Given the description of an element on the screen output the (x, y) to click on. 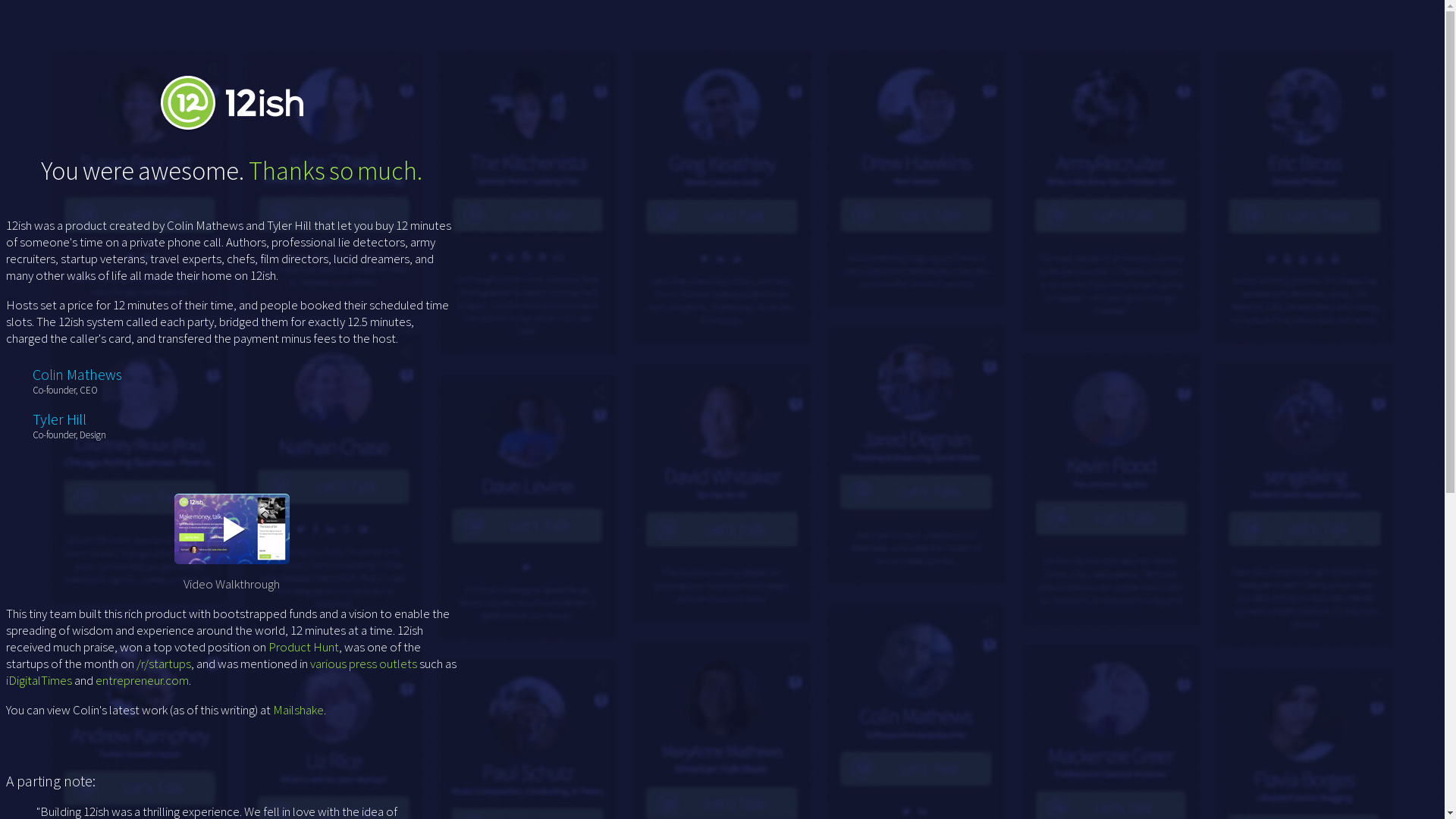
Colin Mathews Element type: text (77, 373)
outlets Element type: text (398, 663)
Mailshake Element type: text (298, 709)
iDigitalTimes Element type: text (39, 679)
entrepreneur.com Element type: text (141, 679)
Product Hunt Element type: text (303, 646)
/r/startups Element type: text (163, 663)
press Element type: text (362, 663)
various Element type: text (328, 663)
Tyler Hill Element type: text (59, 418)
